Given the description of an element on the screen output the (x, y) to click on. 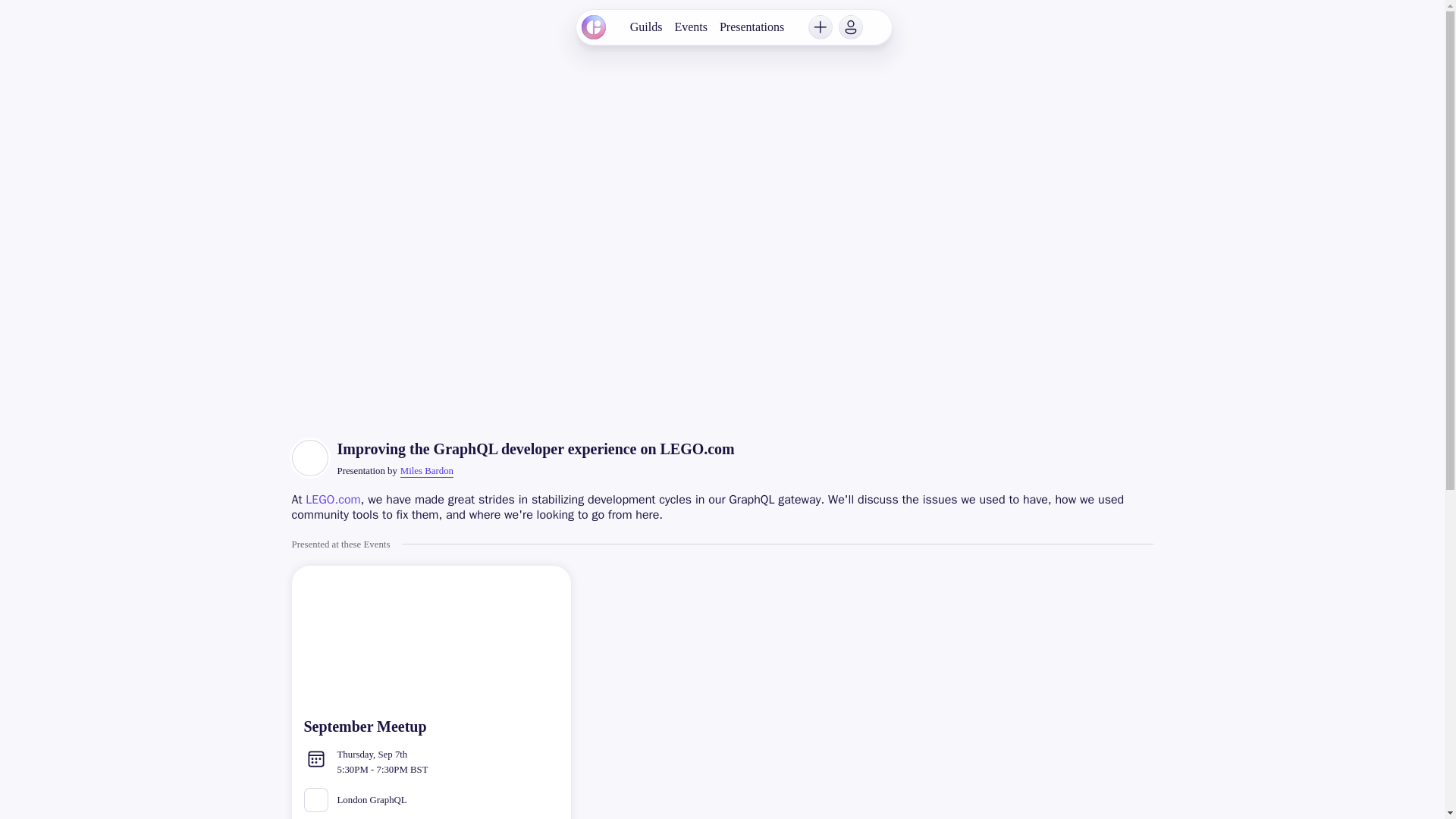
Presentations (751, 27)
Miles Bardon (426, 471)
LEGO.com (332, 499)
London GraphQL (429, 799)
Events (690, 27)
Guilds (646, 27)
September Meetup (429, 761)
